Given the description of an element on the screen output the (x, y) to click on. 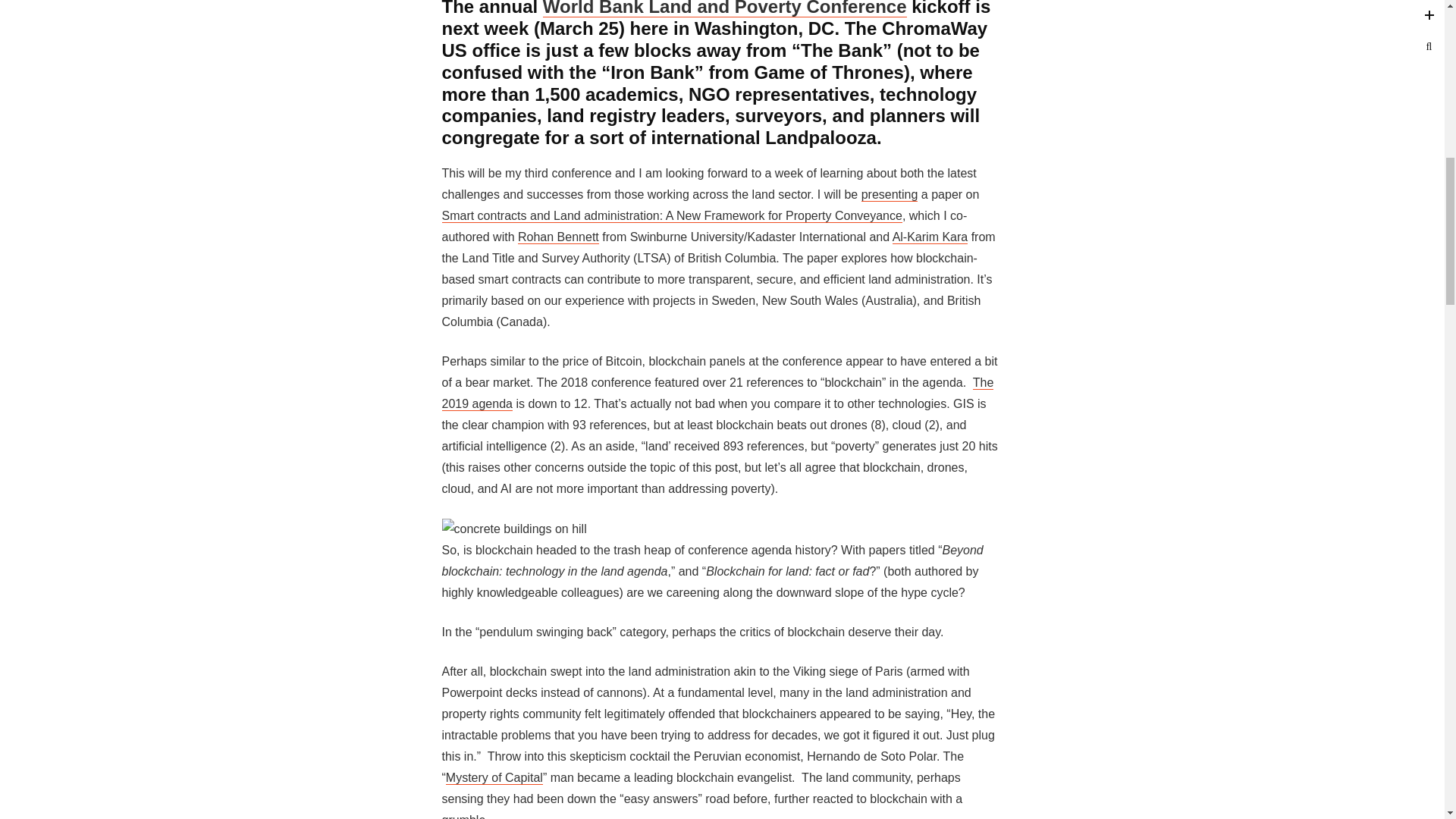
presenting (889, 194)
Rohan Bennett (558, 237)
World Bank Land and Poverty Conference (725, 8)
The 2019 agenda (716, 393)
Mystery of Capital (494, 777)
Al-Karim Kara (930, 237)
